Given the description of an element on the screen output the (x, y) to click on. 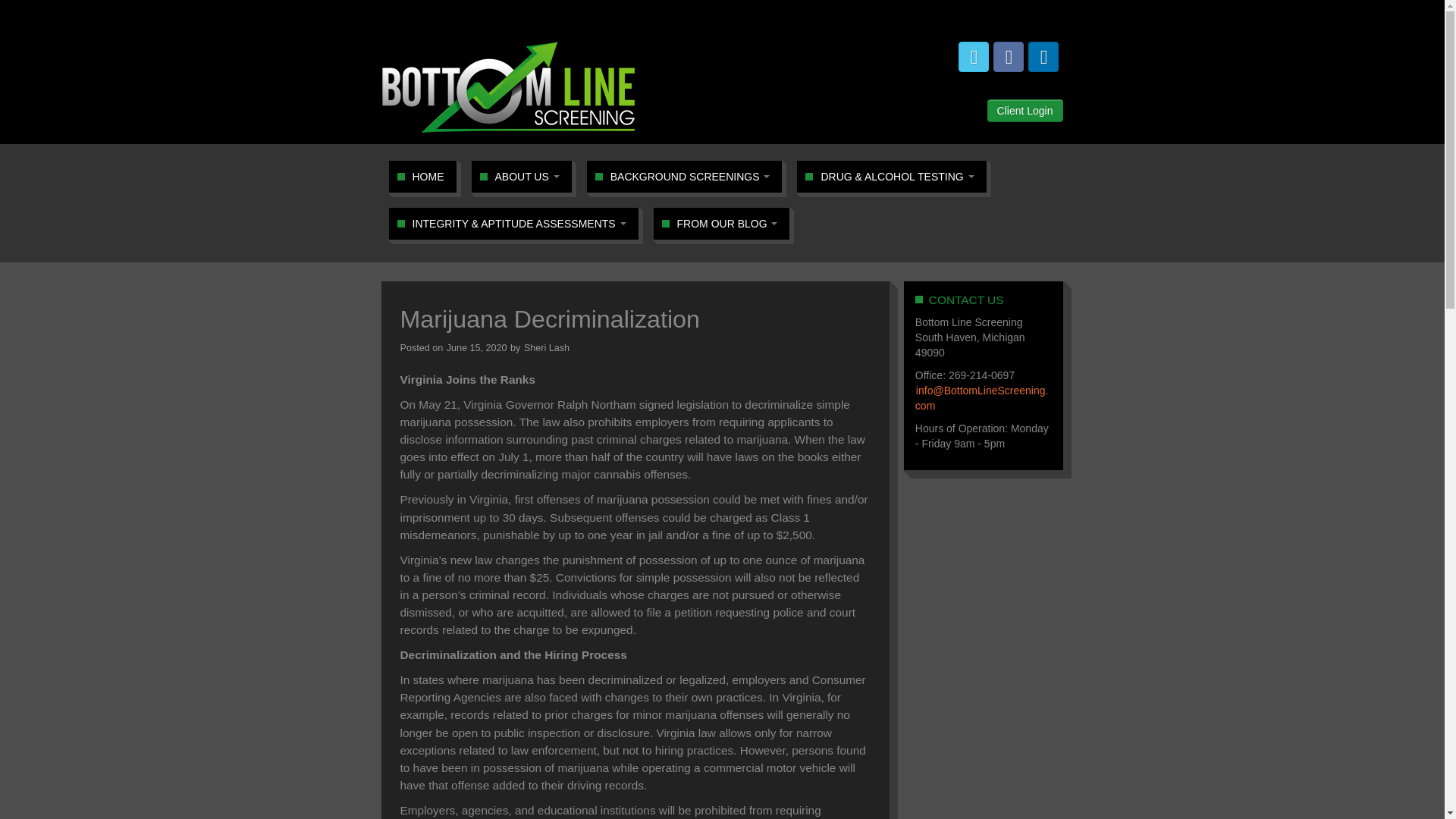
ABOUT US (520, 176)
Sheri Lash (546, 347)
11:42 am (477, 347)
Client Login (1024, 110)
FROM OUR BLOG (721, 223)
Bottom Line Screening Twitter (973, 56)
Bottom Line Screening Facebook (1007, 56)
Bottom Line Screening (507, 86)
BACKGROUND SCREENINGS (684, 176)
View all posts by Sheri Lash (546, 347)
Bottom Line Screening Linkedin (1042, 56)
HOME (422, 176)
June 15, 2020 (477, 347)
